Given the description of an element on the screen output the (x, y) to click on. 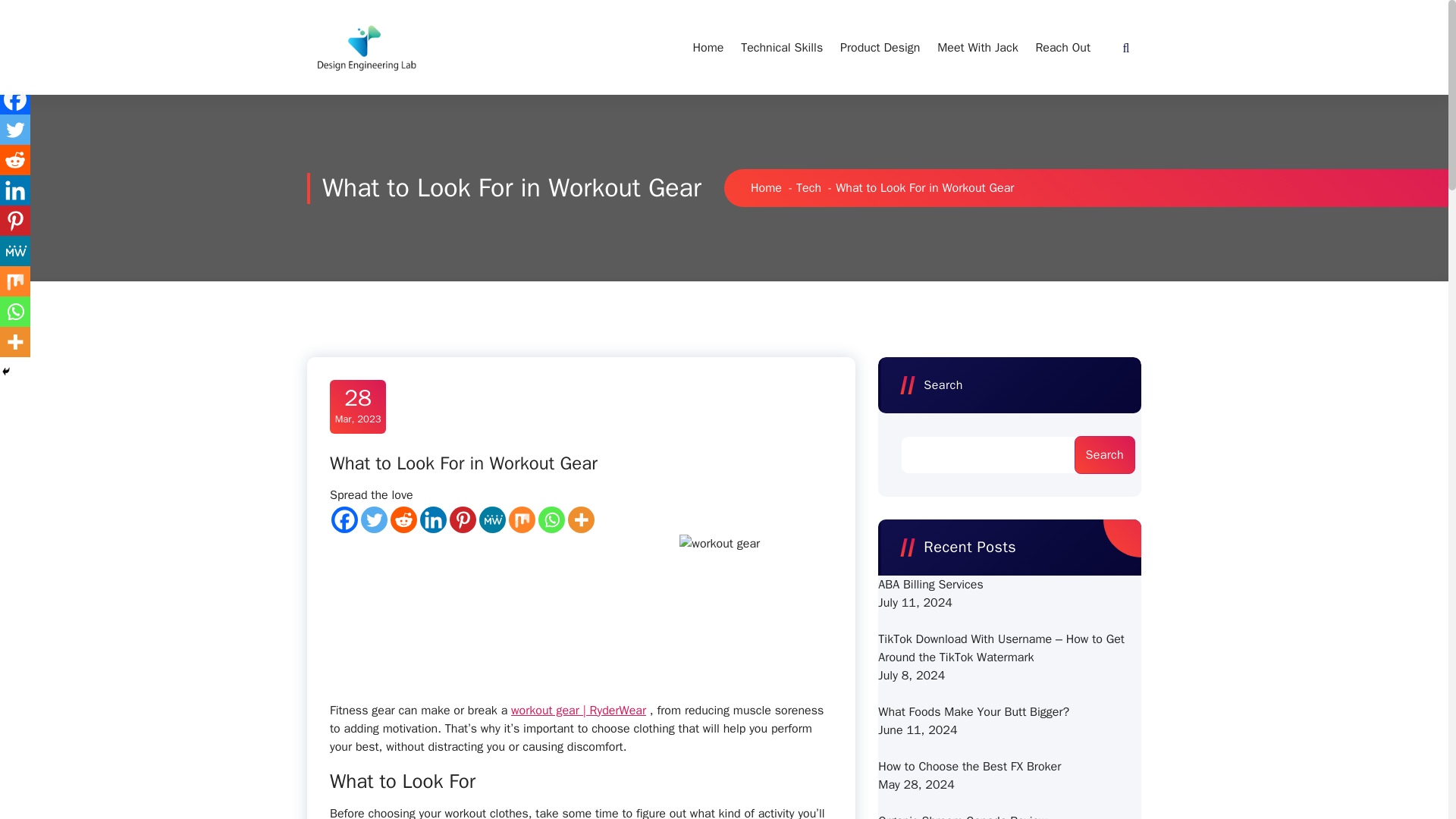
Technical Skills (781, 47)
Twitter (374, 519)
Reddit (403, 519)
Meet With Jack (977, 47)
Home (707, 47)
Home (766, 187)
Facebook (344, 519)
Technical Skills (781, 47)
Product Design (879, 47)
Reach Out (1062, 47)
Product Design (879, 47)
Reach Out (1062, 47)
Home (357, 405)
Meet With Jack (707, 47)
